Given the description of an element on the screen output the (x, y) to click on. 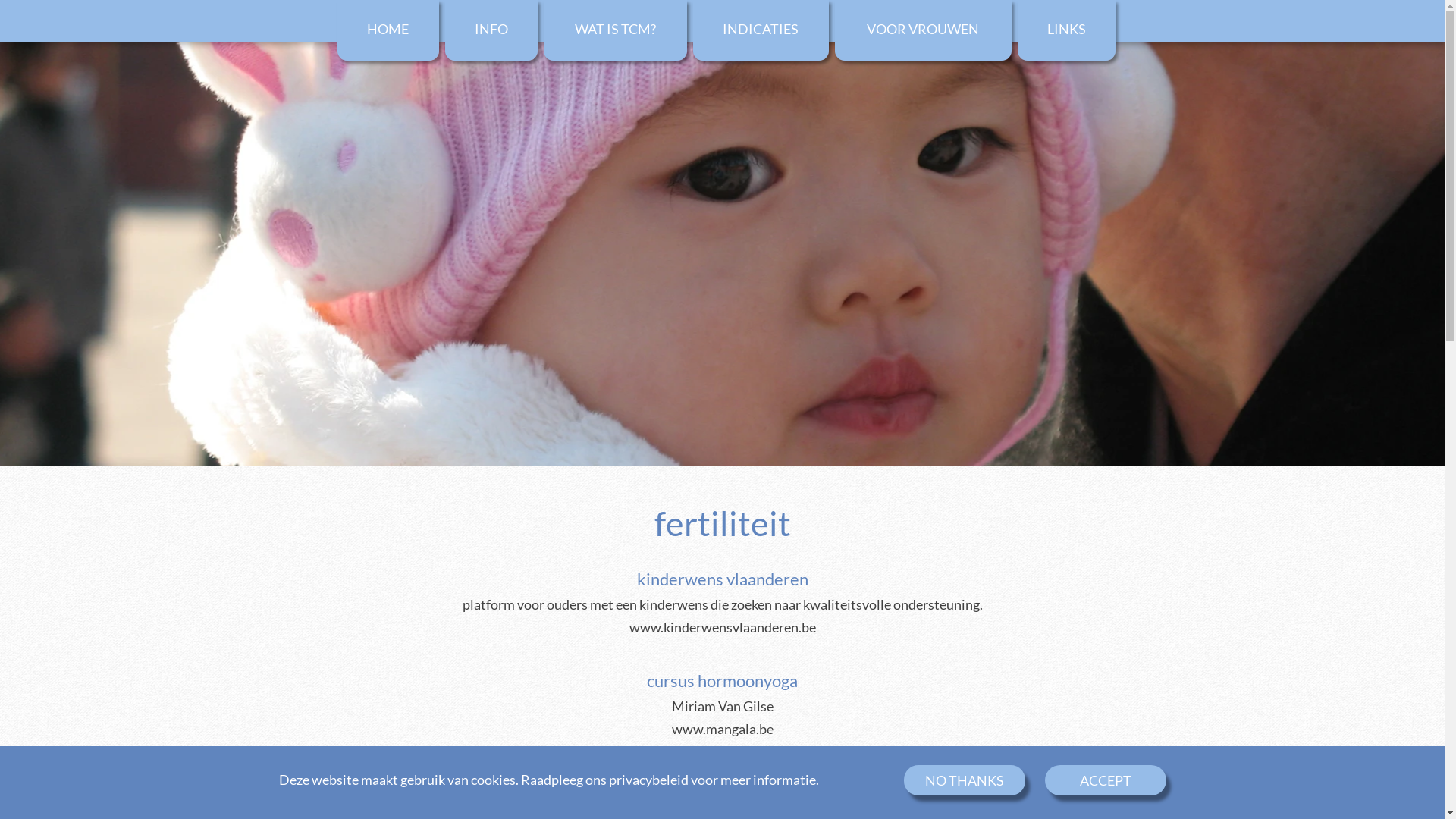
privacybeleid Element type: text (647, 779)
ACCEPT Element type: text (1105, 780)
NO THANKS Element type: text (964, 780)
